Given the description of an element on the screen output the (x, y) to click on. 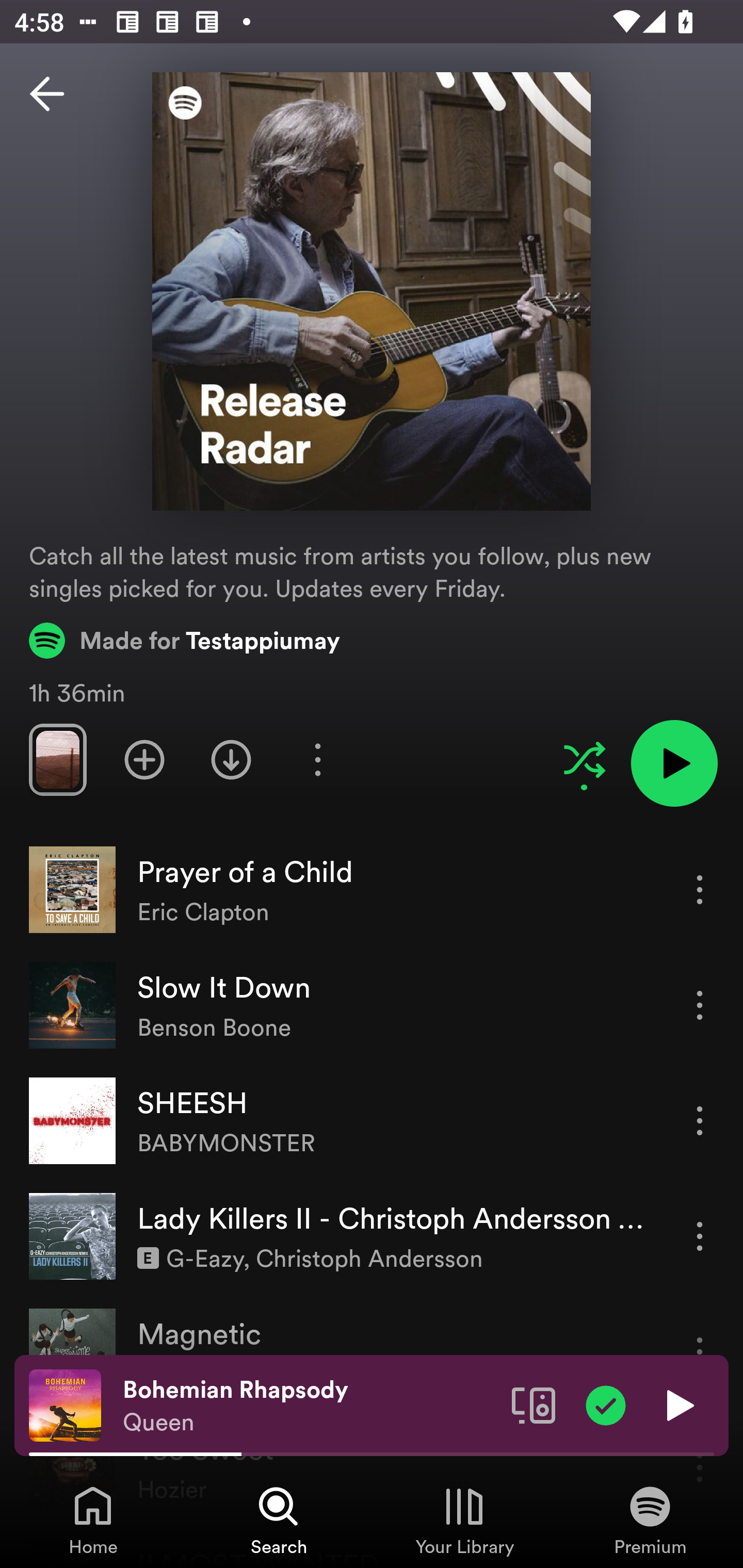
Back (46, 93)
Made for Testappiumay (184, 640)
Swipe through previews of tracks in this playlist. (57, 759)
Add playlist to Your Library (144, 759)
Download (230, 759)
More options for playlist Release Radar (317, 759)
Disable shuffle for this playlist (583, 759)
Play playlist (674, 763)
More options for song Prayer of a Child (699, 889)
More options for song Slow It Down (699, 1004)
SHEESH BABYMONSTER More options for song SHEESH (371, 1121)
More options for song SHEESH (699, 1120)
Bohemian Rhapsody Queen (309, 1405)
The cover art of the currently playing track (64, 1404)
Connect to a device. Opens the devices menu (533, 1404)
Item added (605, 1404)
Play (677, 1404)
Home, Tab 1 of 4 Home Home (92, 1519)
Search, Tab 2 of 4 Search Search (278, 1519)
Your Library, Tab 3 of 4 Your Library Your Library (464, 1519)
Premium, Tab 4 of 4 Premium Premium (650, 1519)
